Given the description of an element on the screen output the (x, y) to click on. 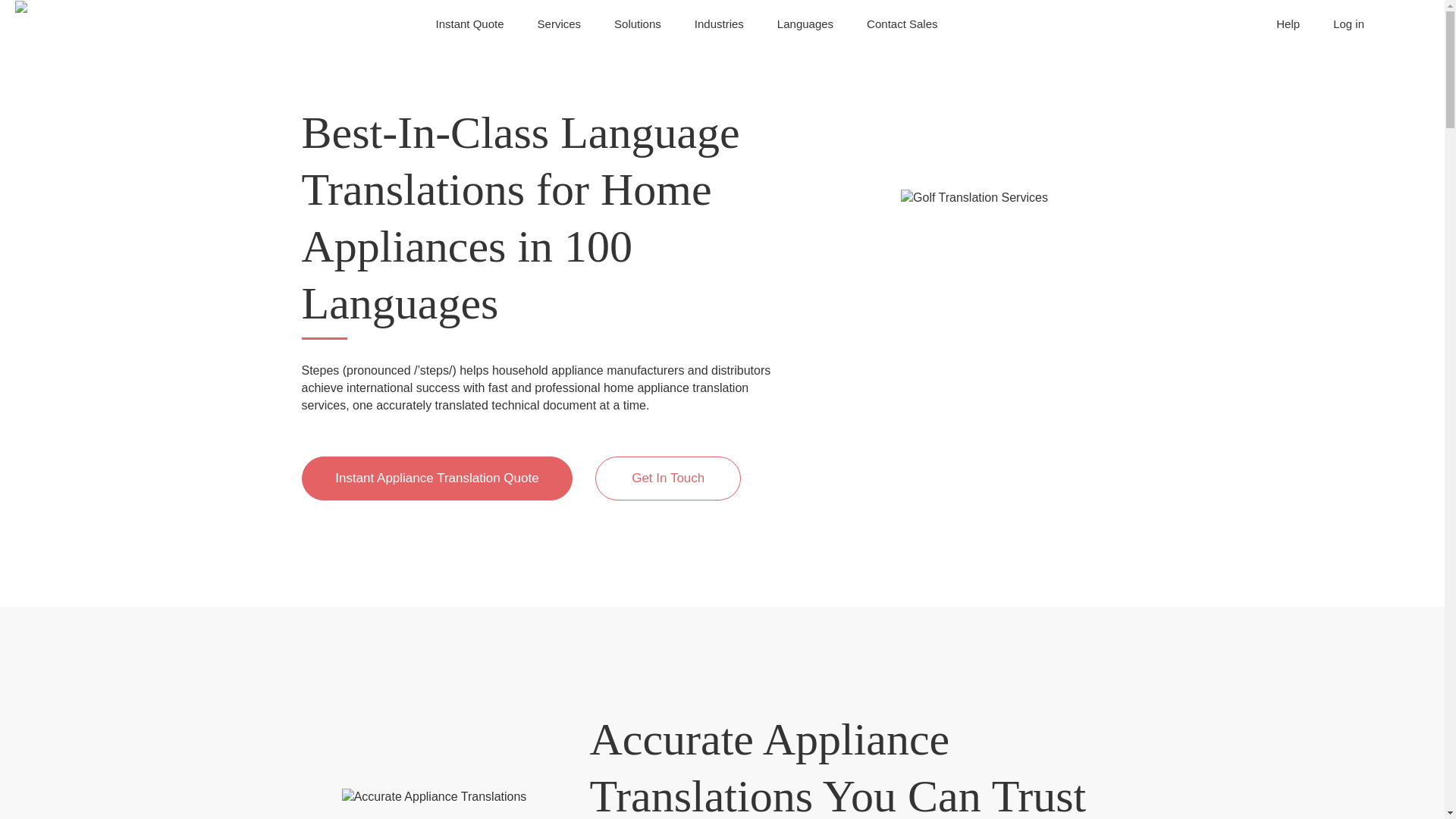
Industries (719, 24)
Services (559, 24)
Solutions (637, 24)
Instant Quote (469, 24)
